Given the description of an element on the screen output the (x, y) to click on. 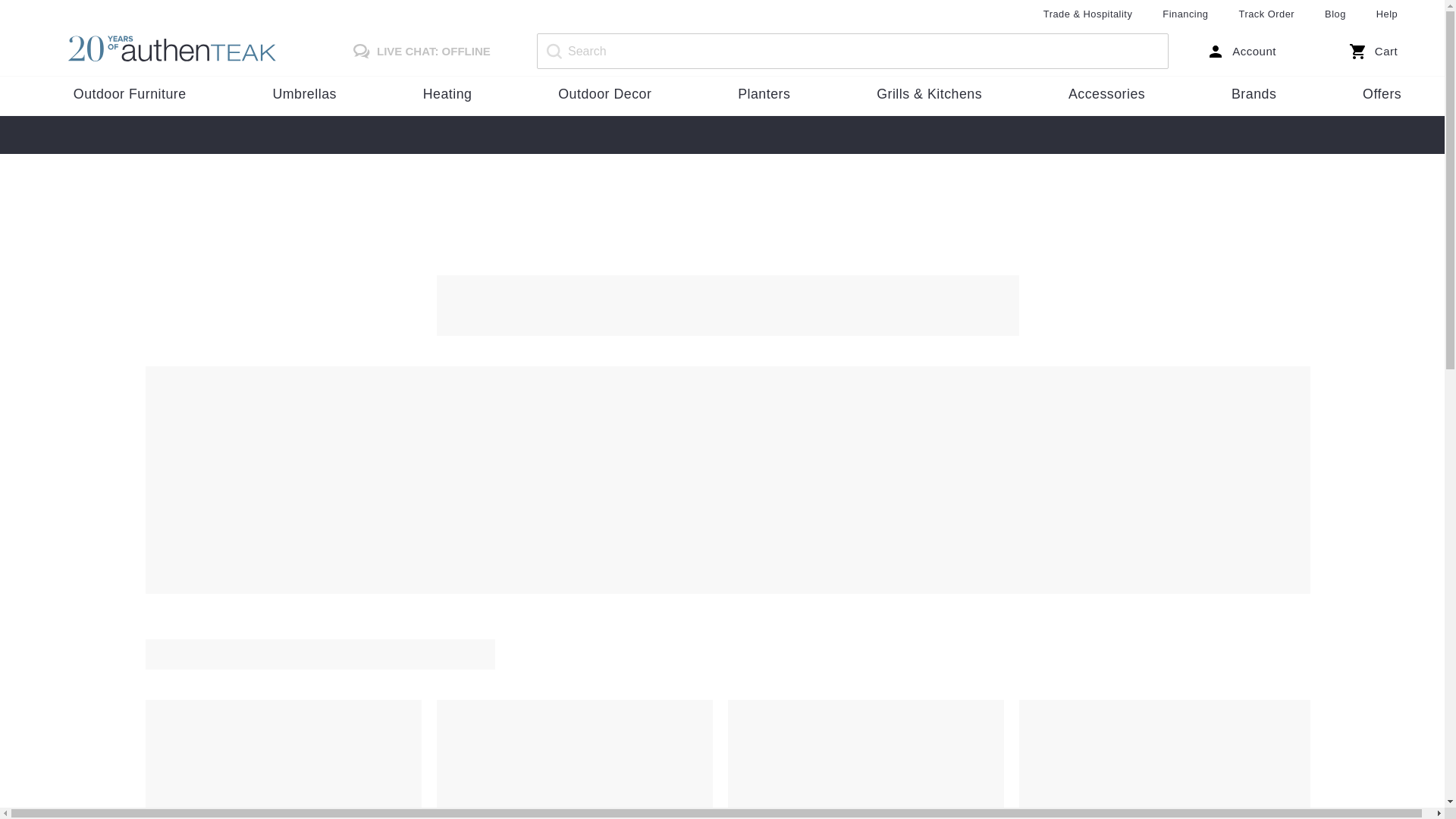
Shop All Patio Accessories (1106, 94)
Shop Outdoor Decor (604, 94)
Cart (1368, 51)
Chat with us today! (416, 51)
Go to Financing page (1184, 14)
Outdoor Furniture (130, 94)
Go to Help page (1386, 14)
Go to Track Order page (1267, 14)
Shop All Featured Offers (1382, 94)
Track Order (1267, 14)
